Given the description of an element on the screen output the (x, y) to click on. 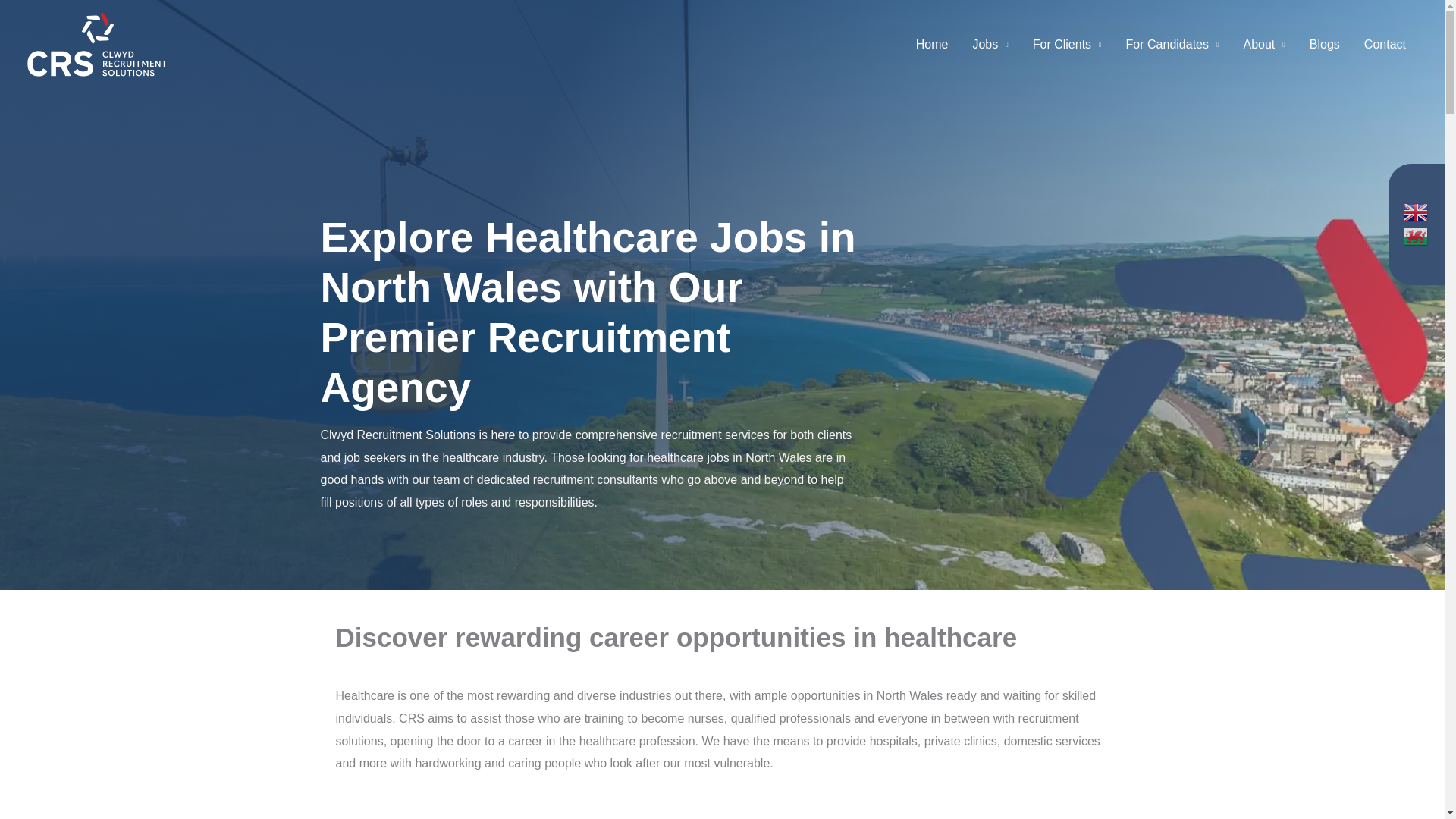
Jobs (989, 44)
For Clients (1066, 44)
Home (932, 44)
English (1416, 211)
Blogs (1324, 44)
About (1264, 44)
Welsh (1416, 236)
Contact (1385, 44)
For Candidates (1172, 44)
